Given the description of an element on the screen output the (x, y) to click on. 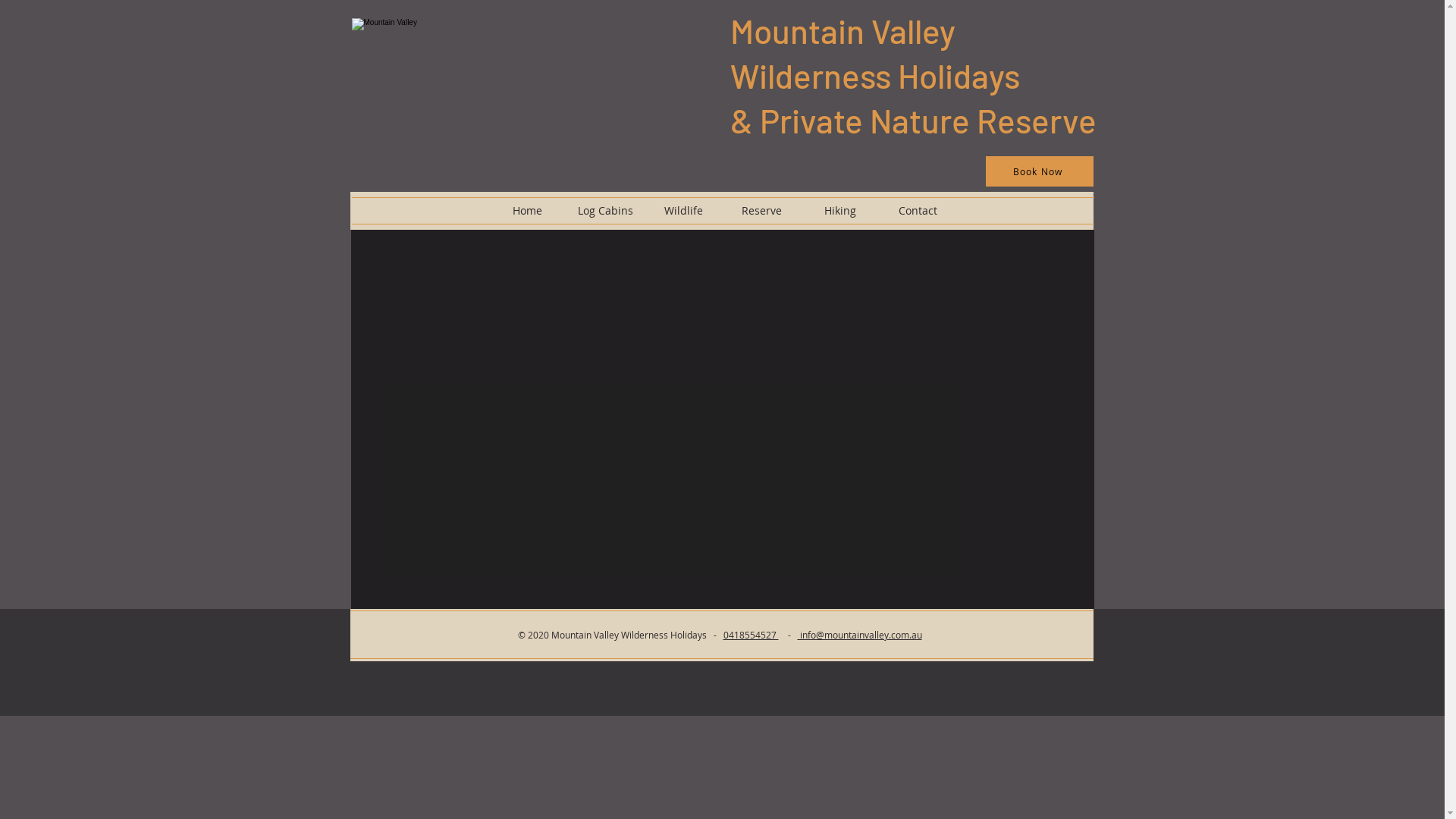
MV_LOGO.png Element type: hover (526, 63)
Contact Element type: text (917, 210)
Reserve Element type: text (761, 210)
0418554527  Element type: text (750, 634)
Book Now Element type: text (1039, 171)
Home Element type: text (527, 210)
Embedded Content Element type: hover (722, 415)
Wildlife Element type: text (683, 210)
Log Cabins Element type: text (605, 210)
Hiking Element type: text (839, 210)
info@mountainvalley.com.au Element type: text (859, 634)
